Given the description of an element on the screen output the (x, y) to click on. 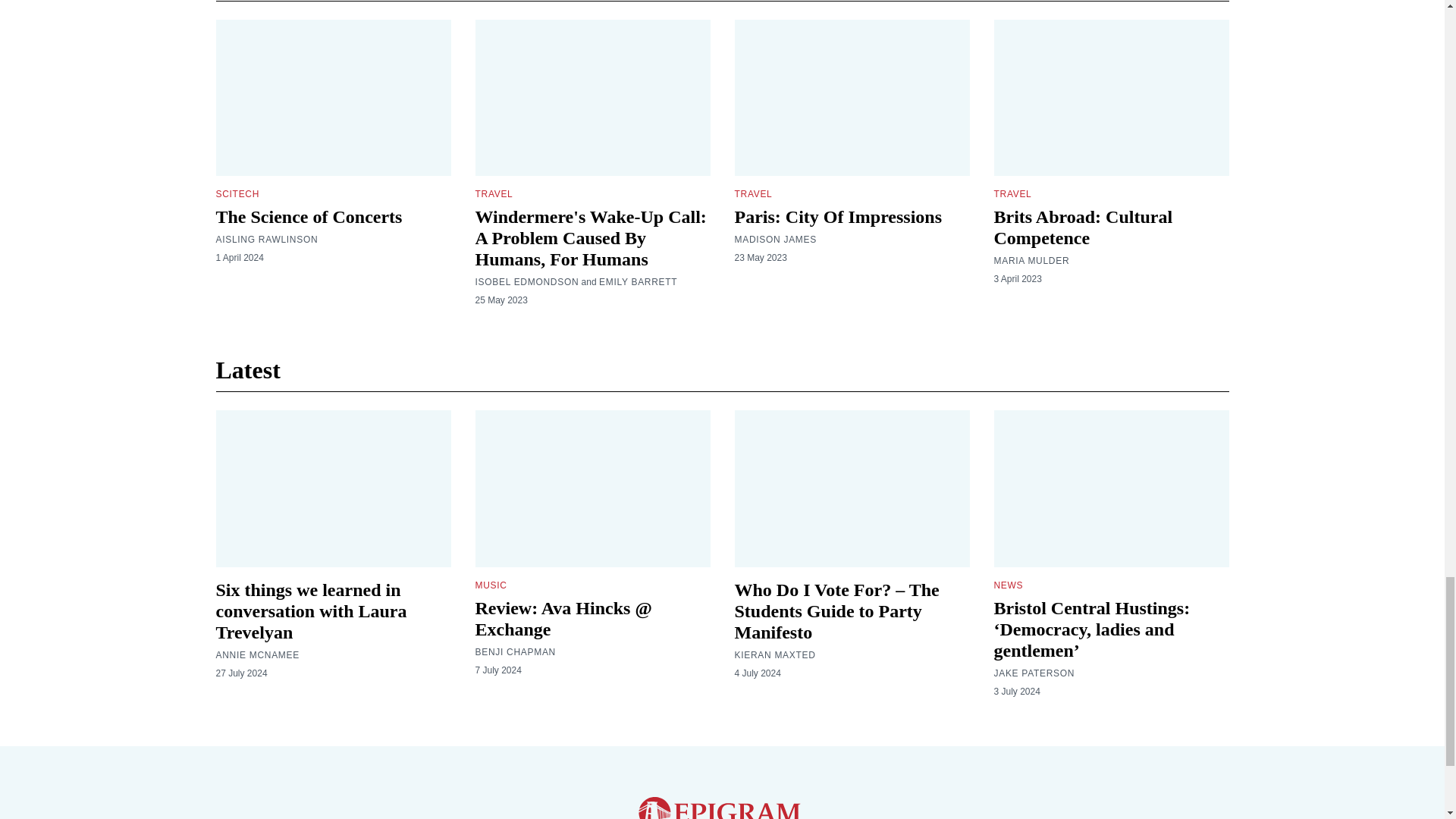
SCITECH (237, 194)
TRAVEL (493, 194)
ISOBEL EDMONDSON (526, 282)
AISLING RAWLINSON (266, 239)
The Science of Concerts (308, 216)
EMILY BARRETT (637, 282)
